Given the description of an element on the screen output the (x, y) to click on. 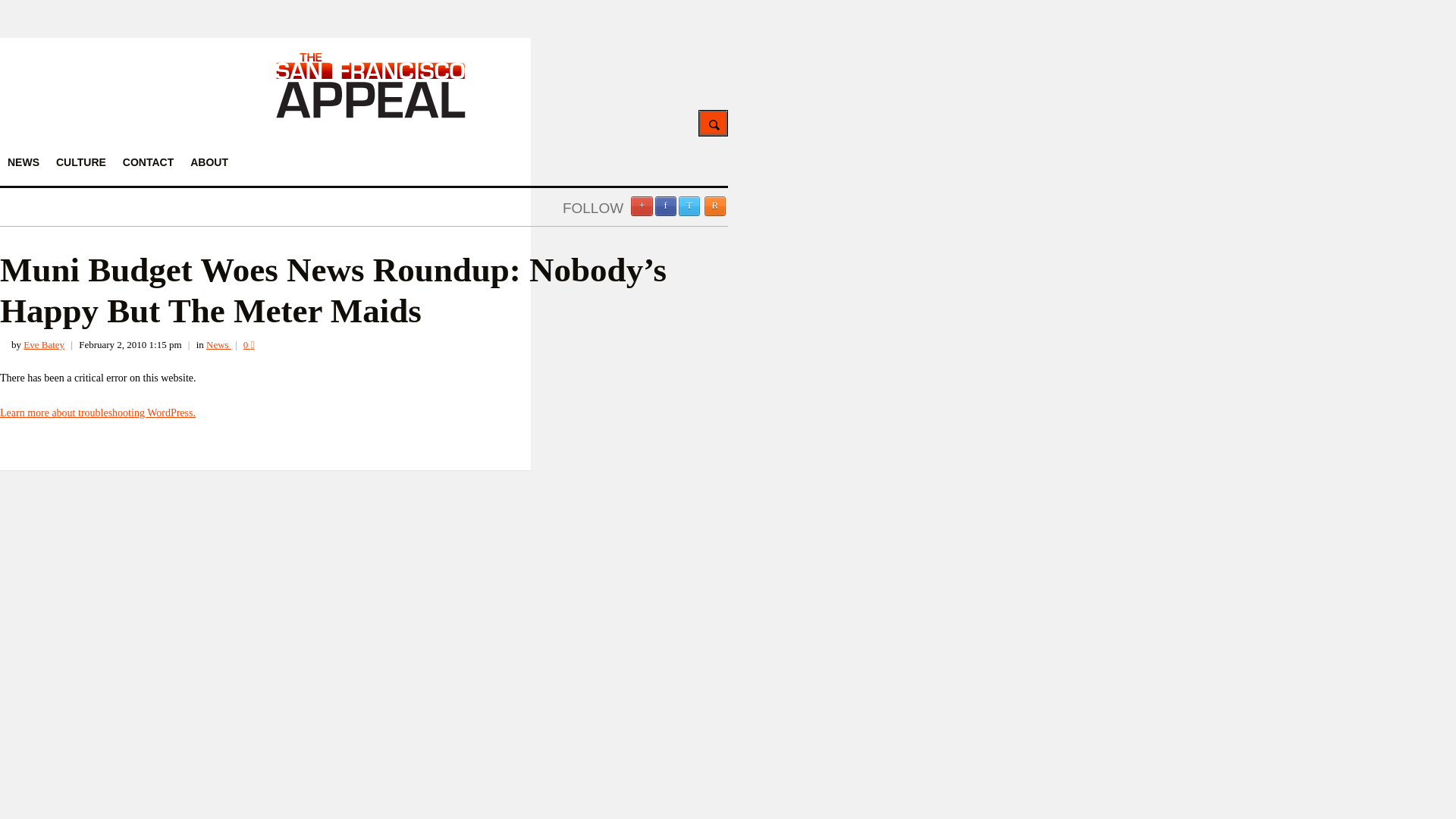
Eve Batey (43, 344)
Search (712, 122)
TWITTER (689, 206)
SF Appeal: San Francisco's Online Newspaper (370, 115)
Learn more about troubleshooting WordPress. (97, 412)
FACEBOOK (666, 206)
0 (248, 344)
Posts by Eve Batey (43, 344)
NEWS (23, 162)
ABOUT (209, 162)
